Given the description of an element on the screen output the (x, y) to click on. 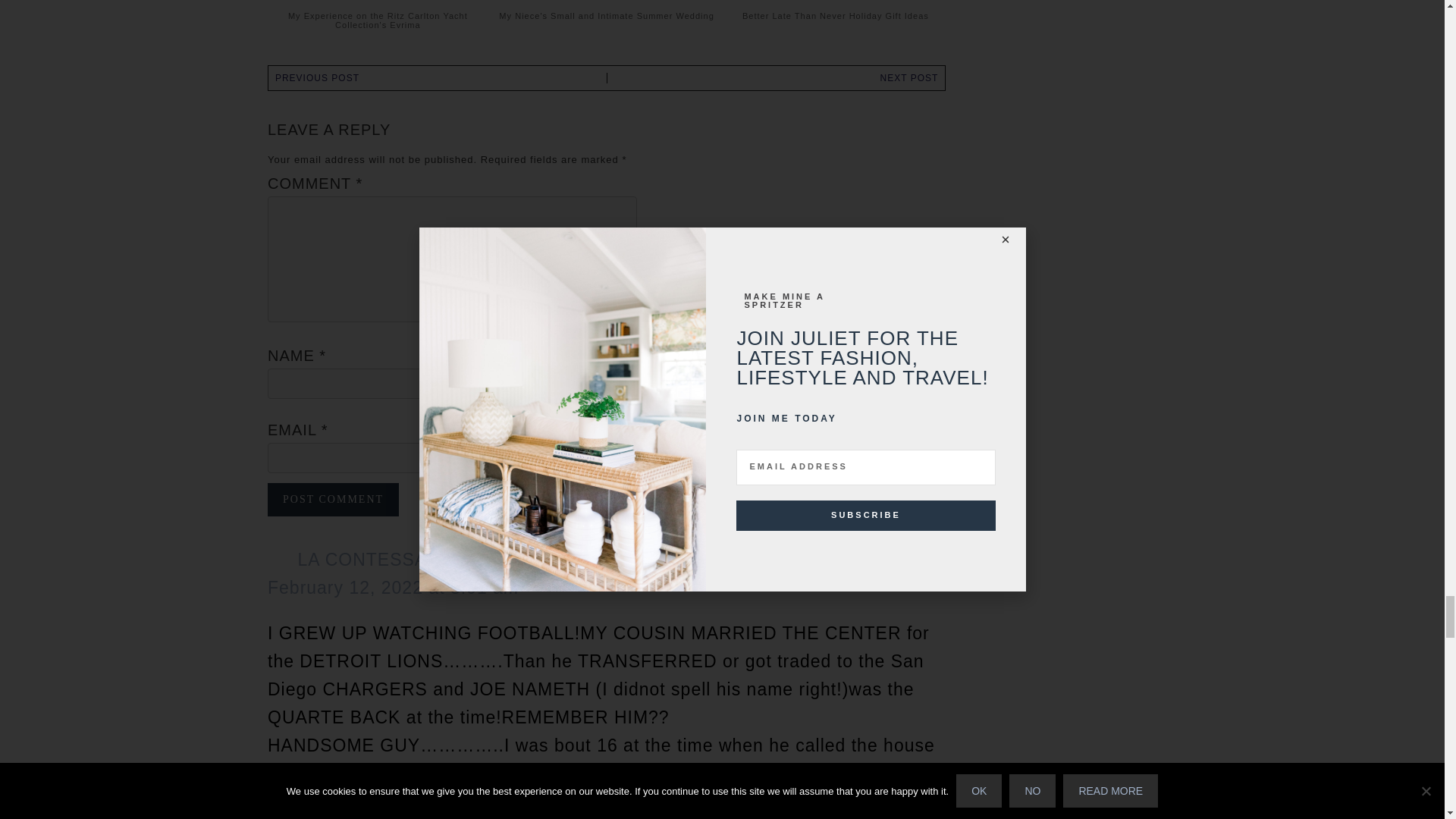
Post Comment (332, 499)
My Experience on the Ritz Carlton Yacht Collection's Evrima (377, 4)
Better Late Than Never Holiday Gift Ideas (835, 4)
My Niece's Small and Intimate Summer Wedding (606, 4)
